Given the description of an element on the screen output the (x, y) to click on. 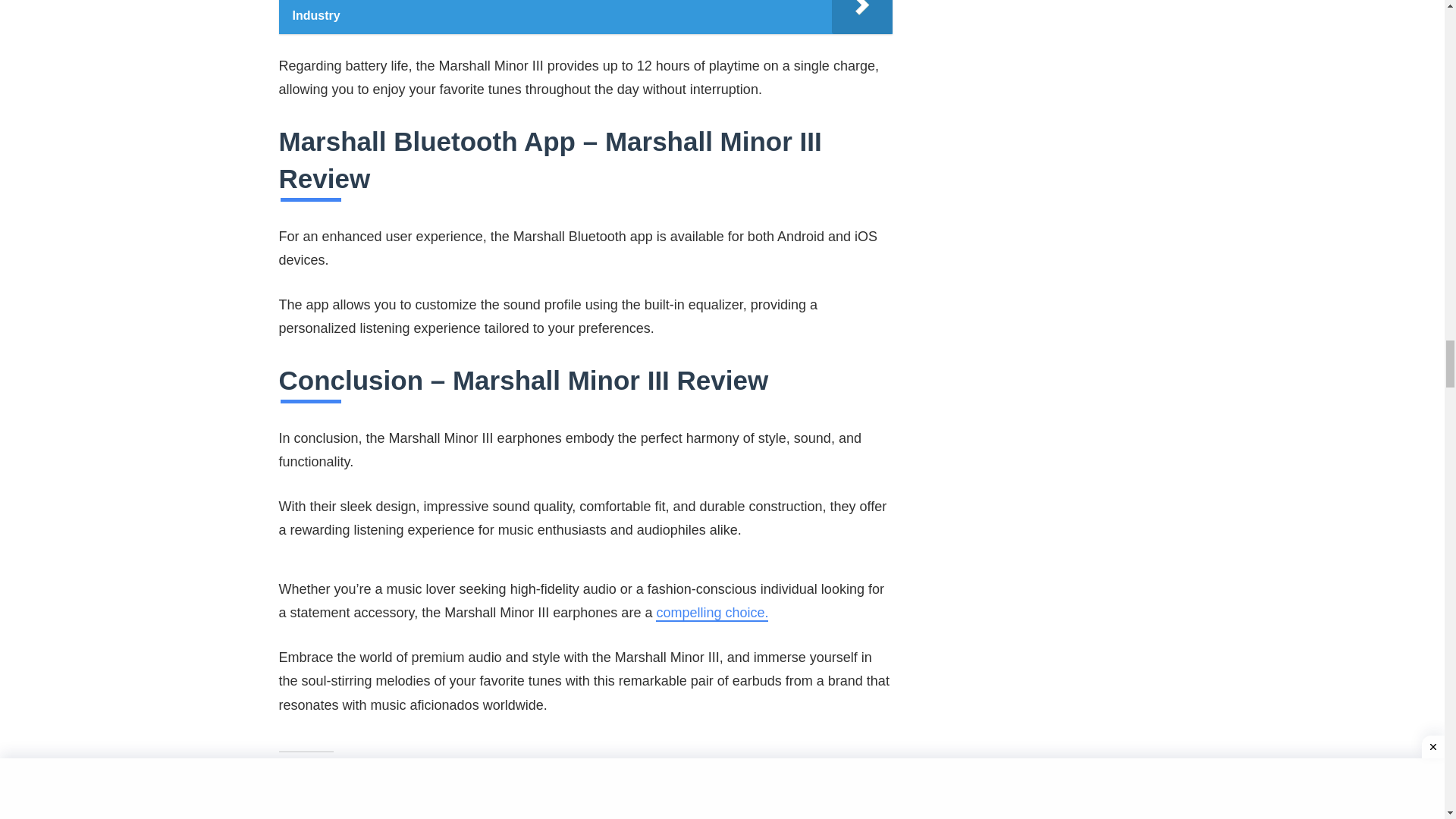
Discover the 4 Best Sony Camera for Video Production (790, 802)
